Given the description of an element on the screen output the (x, y) to click on. 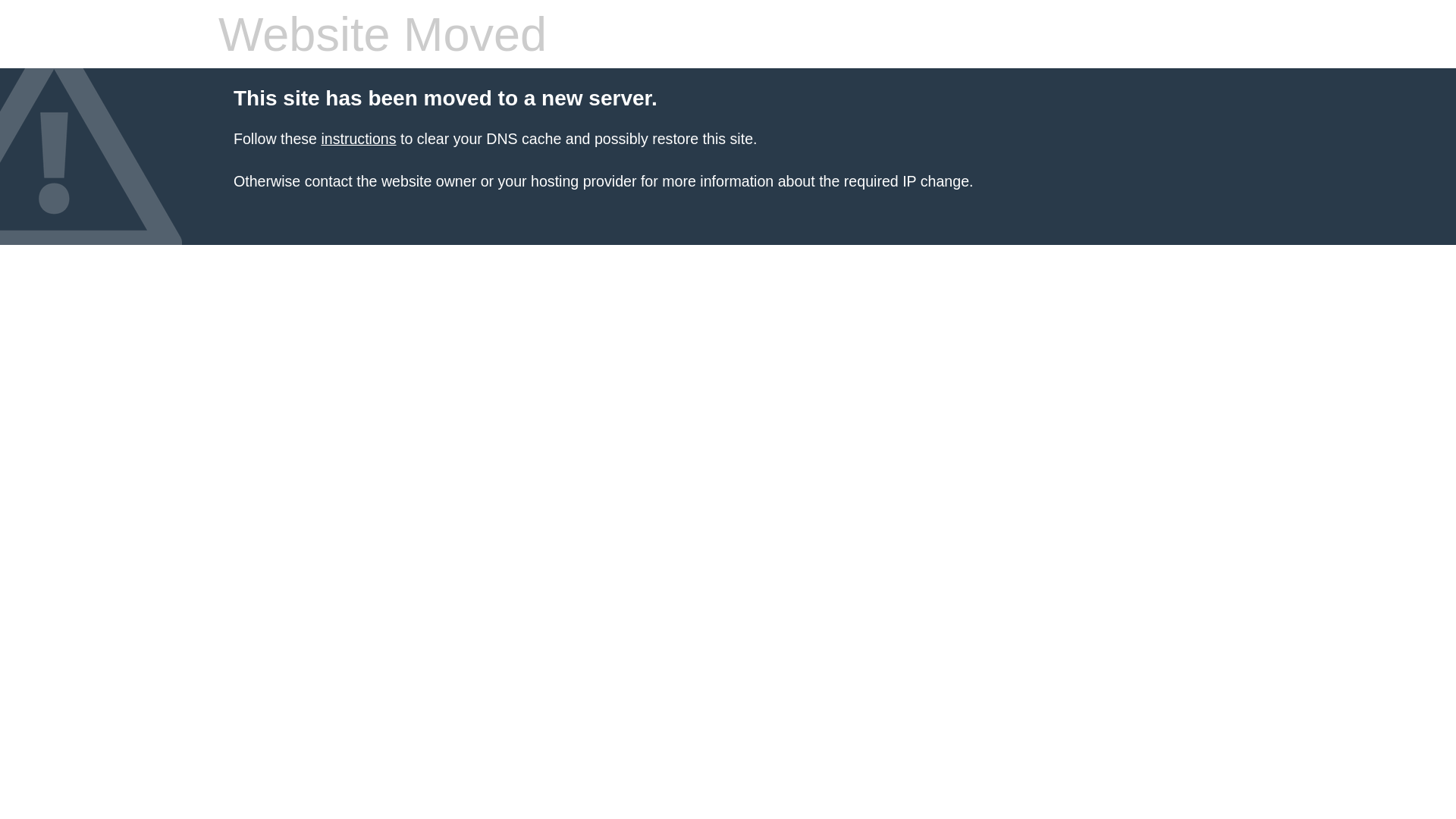
instructions Element type: text (357, 138)
